Given the description of an element on the screen output the (x, y) to click on. 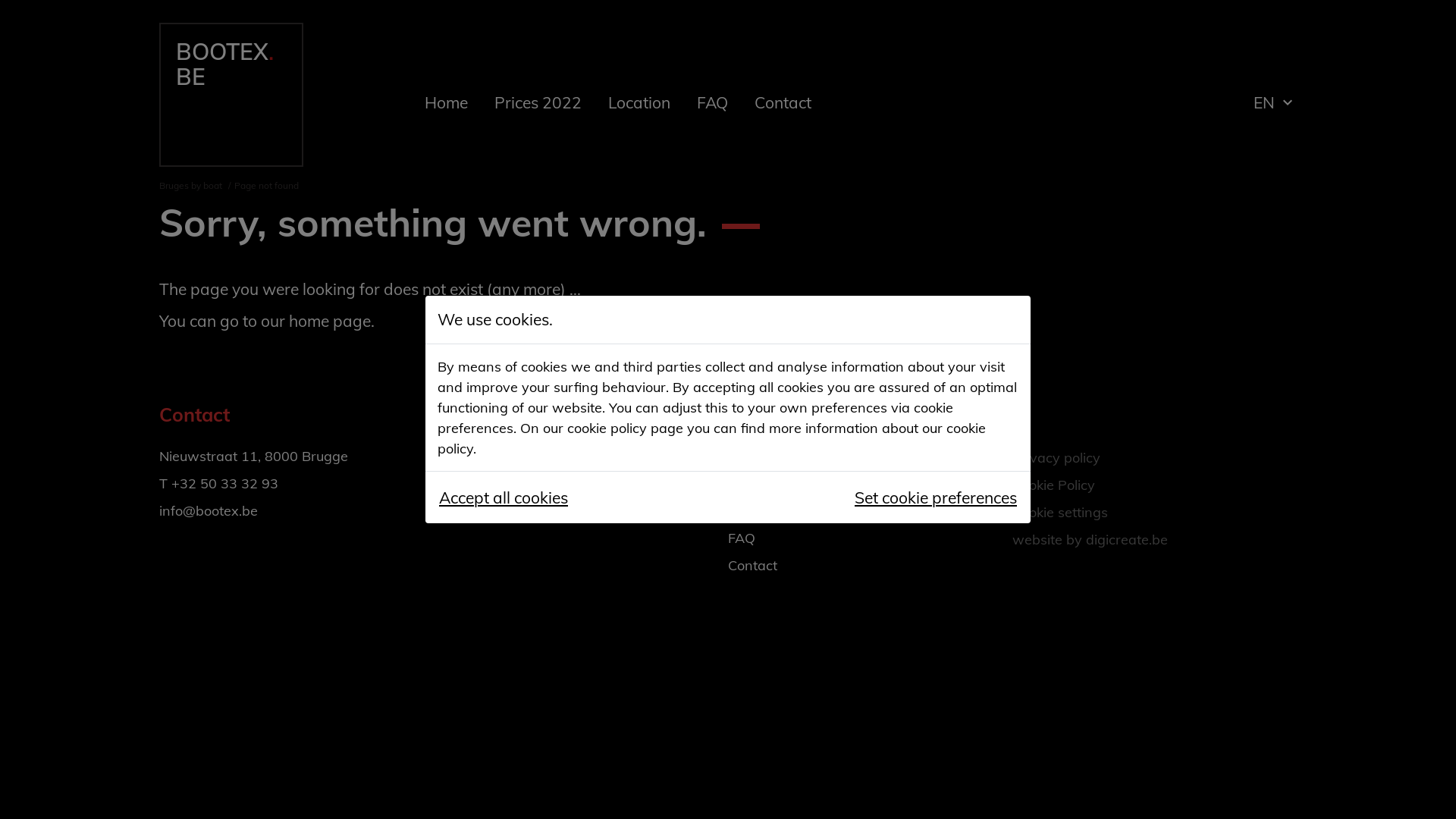
Prices 2022 Element type: text (765, 483)
Set cookie preferences Element type: text (935, 497)
Prices 2022 Element type: text (537, 102)
Cookie settings Element type: text (1059, 511)
Home Element type: text (445, 102)
FAQ Element type: text (712, 102)
digicreate.be Element type: text (1126, 539)
Location Element type: text (754, 510)
Cookie Policy Element type: text (1053, 484)
info@bootex.be Element type: text (208, 510)
Location Element type: text (639, 102)
home page Element type: text (329, 320)
Contact Element type: text (752, 565)
+32 50 33 32 93 Element type: text (224, 483)
Bruges by boat Element type: text (190, 185)
FAQ Element type: text (741, 537)
Privacy policy Element type: text (1056, 457)
Home Element type: text (746, 455)
Accept all cookies Element type: text (503, 497)
Contact Element type: text (782, 102)
